Given the description of an element on the screen output the (x, y) to click on. 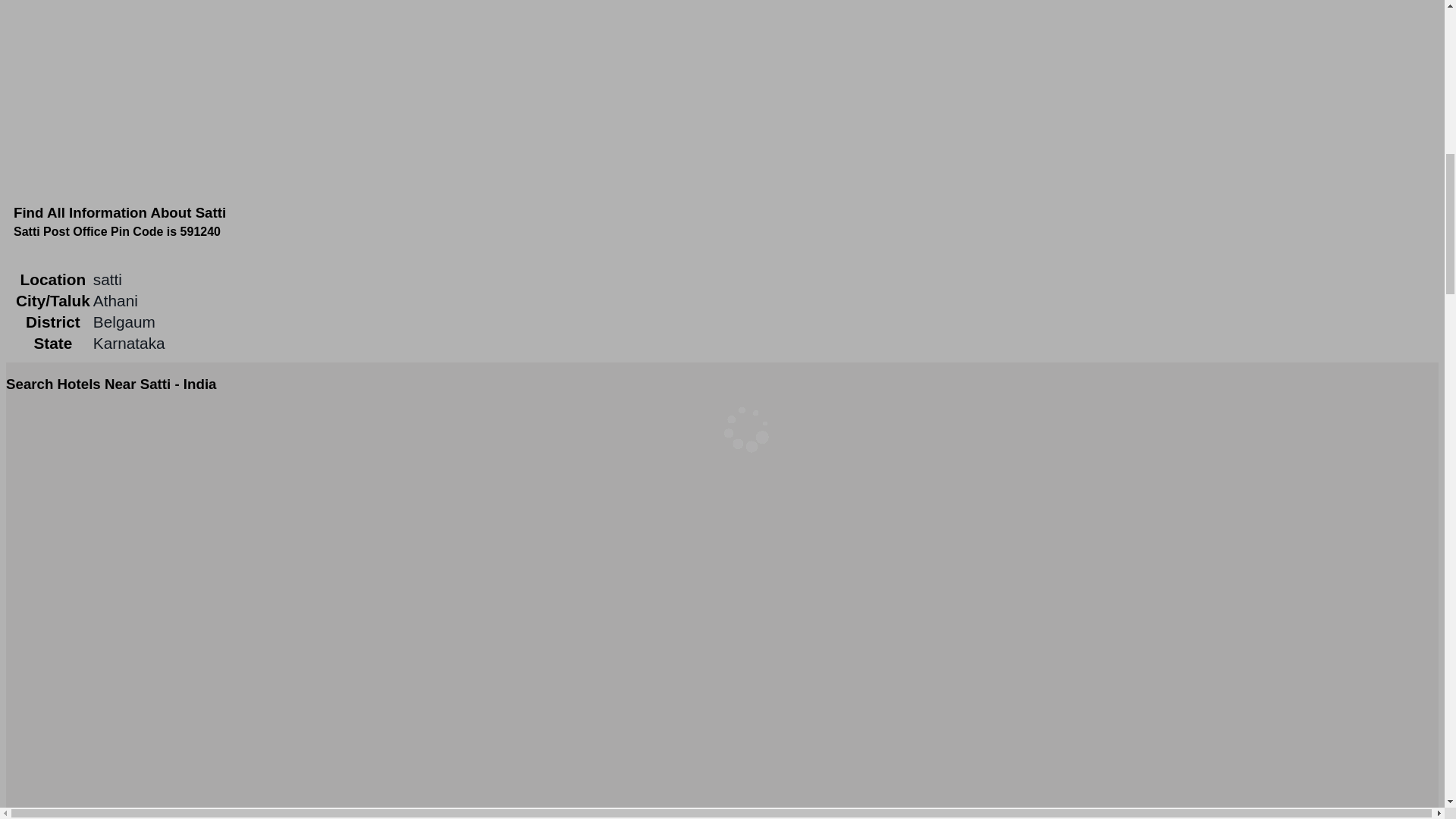
Athani (115, 300)
Belgaum (124, 321)
Karnataka (129, 343)
Karnataka (129, 343)
Belgaum (124, 321)
satti (107, 279)
